Given the description of an element on the screen output the (x, y) to click on. 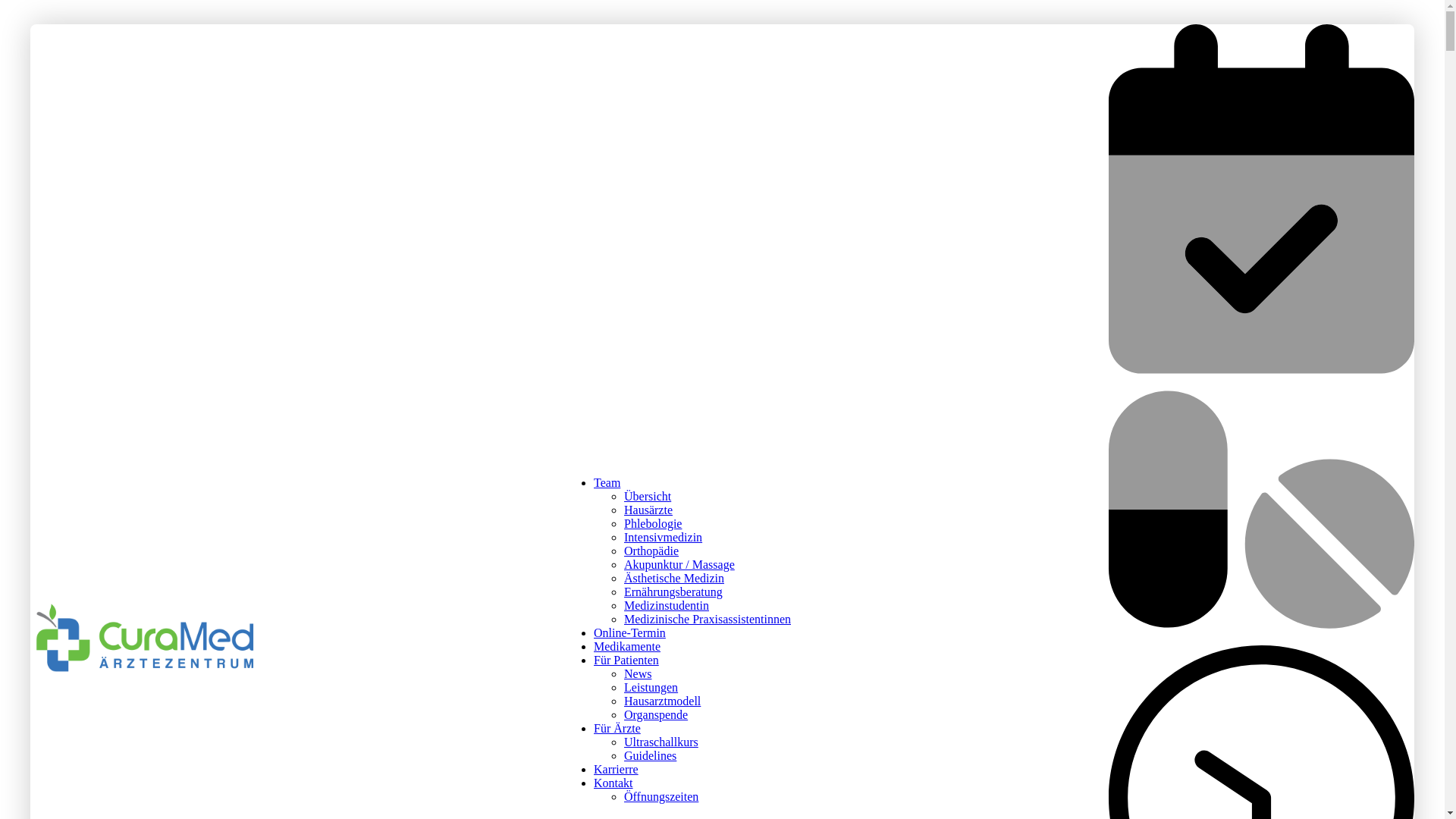
Online Termin buchen Element type: hover (1261, 30)
Phlebologie Element type: text (652, 523)
Leistungen Element type: text (650, 686)
Kontakt Element type: text (613, 782)
News Element type: text (637, 673)
Hausarztmodell Element type: text (662, 700)
Medikamente bestellen Element type: hover (1261, 379)
Akupunktur / Massage Element type: text (679, 564)
Organspende Element type: text (655, 714)
Karrierre Element type: text (615, 768)
Guidelines Element type: text (650, 755)
Ultraschallkurs Element type: text (661, 741)
Team Element type: text (606, 482)
Intensivmedizin Element type: text (663, 536)
Medizinische Praxisassistentinnen Element type: text (707, 618)
Online-Termin Element type: text (629, 632)
Medikamente Element type: text (626, 646)
Medizinstudentin Element type: text (666, 605)
